Given the description of an element on the screen output the (x, y) to click on. 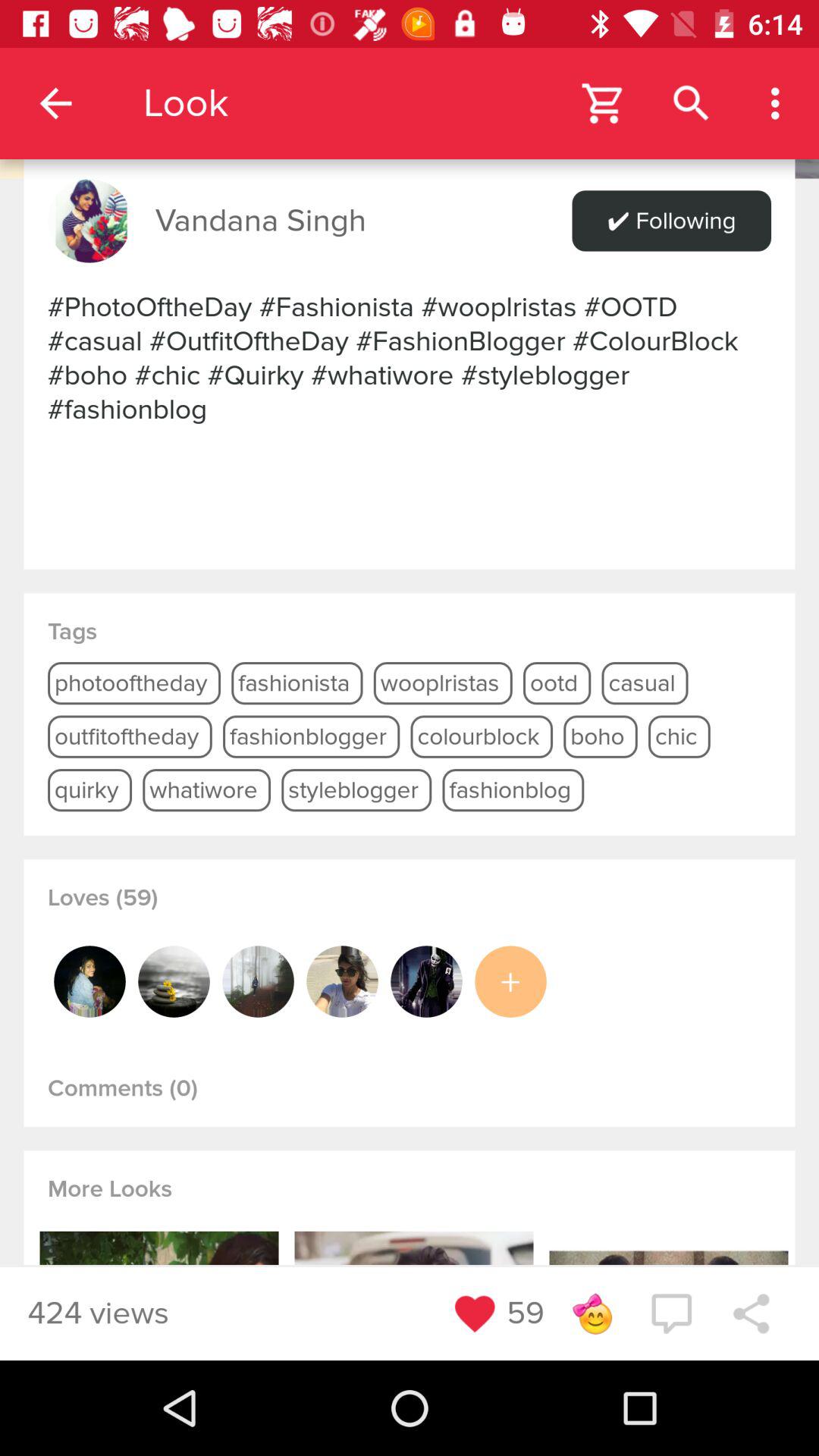
select icon below the loves (59) icon (342, 981)
